Given the description of an element on the screen output the (x, y) to click on. 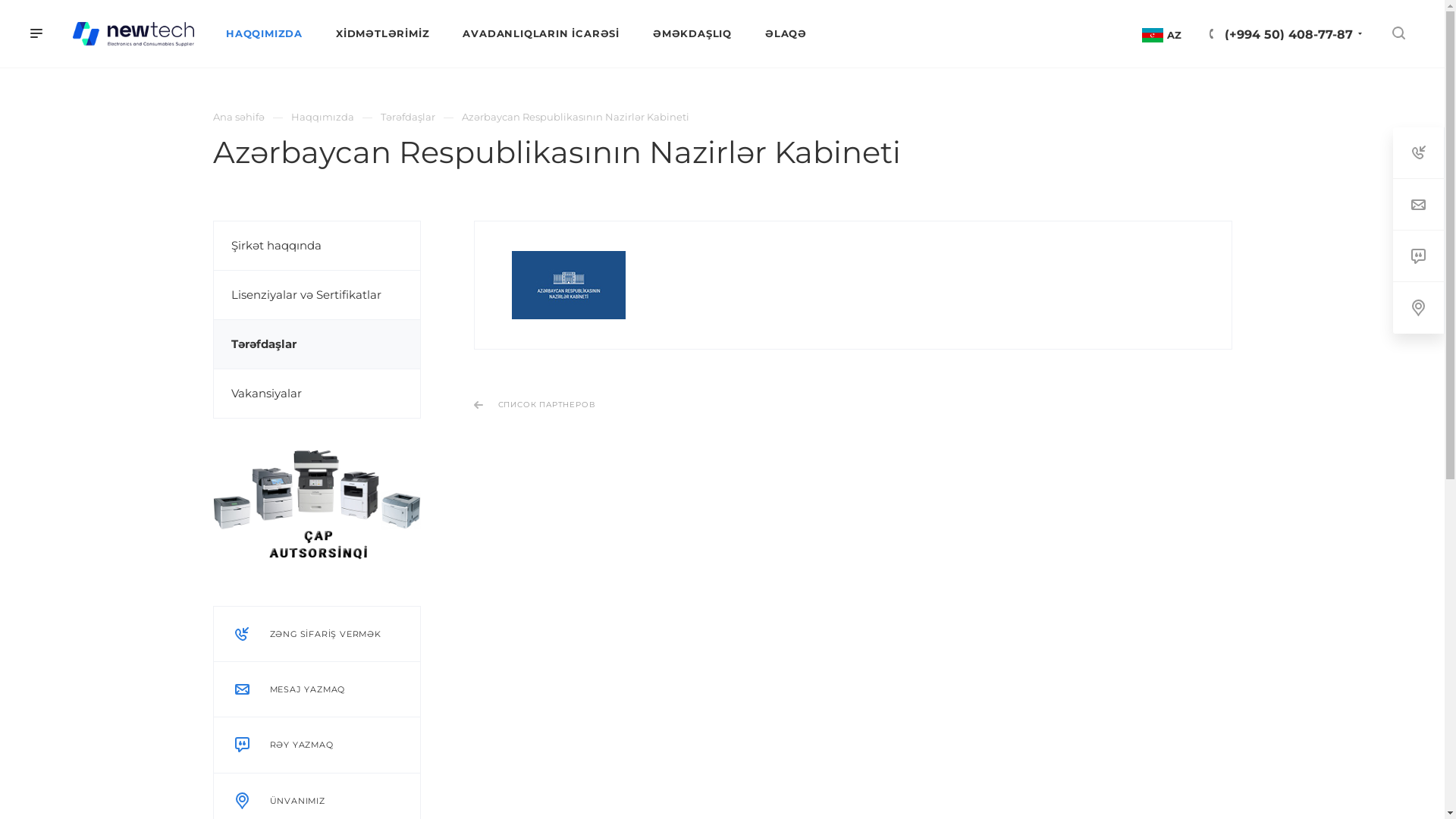
(+994 50) 408-77-87 Element type: text (1288, 34)
HAQQIMIZDA Element type: text (264, 32)
Vakansiyalar Element type: text (316, 393)
